Given the description of an element on the screen output the (x, y) to click on. 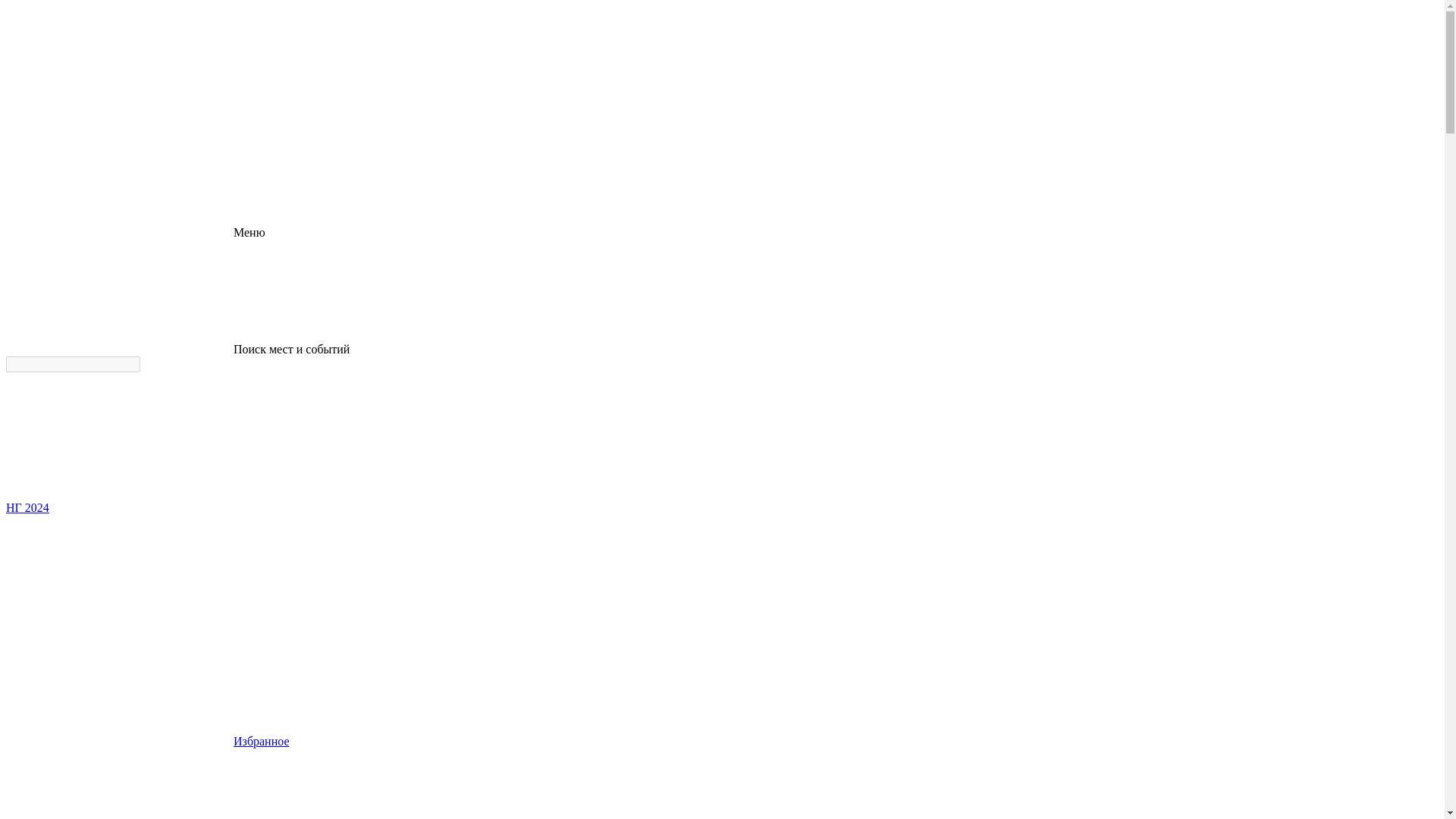
logo Element type: hover (119, 62)
logo Element type: hover (119, 115)
